Given the description of an element on the screen output the (x, y) to click on. 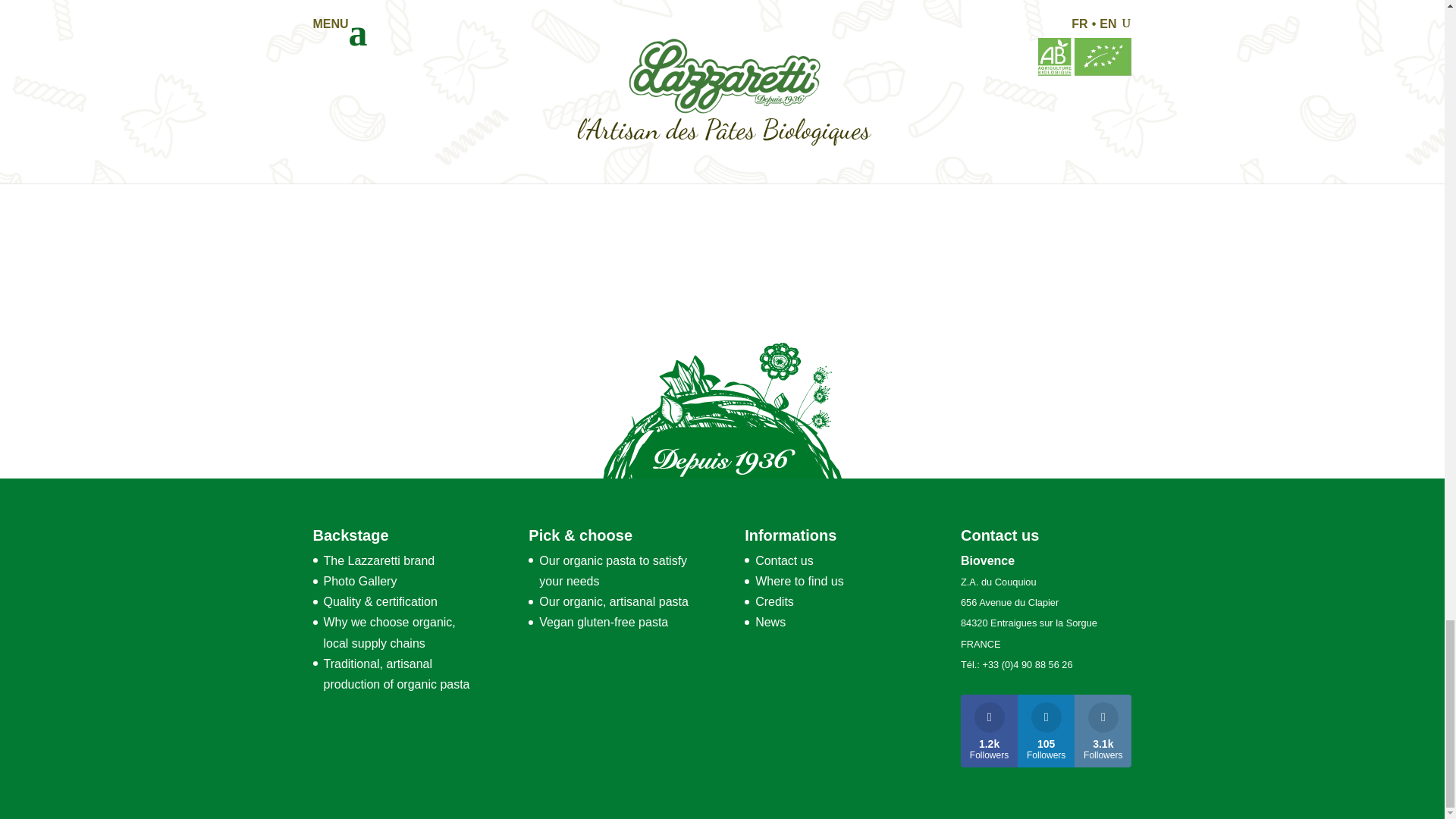
The Lazzaretti brand (378, 560)
Why we choose organic, local supply chains (388, 632)
Gala's Blog (628, 48)
Photo Gallery (359, 581)
